Given the description of an element on the screen output the (x, y) to click on. 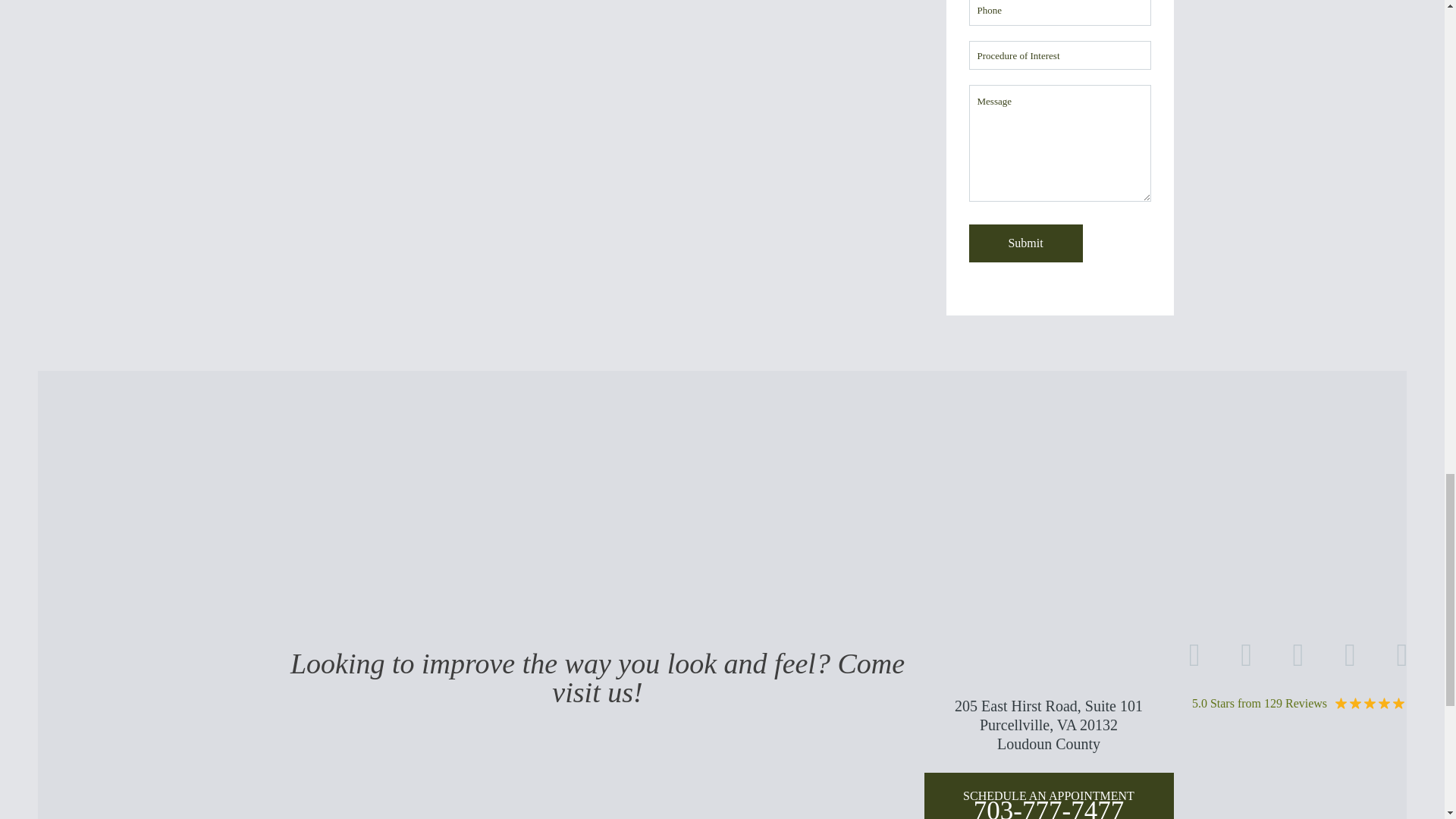
Submit (1026, 243)
Location (1048, 727)
